Given the description of an element on the screen output the (x, y) to click on. 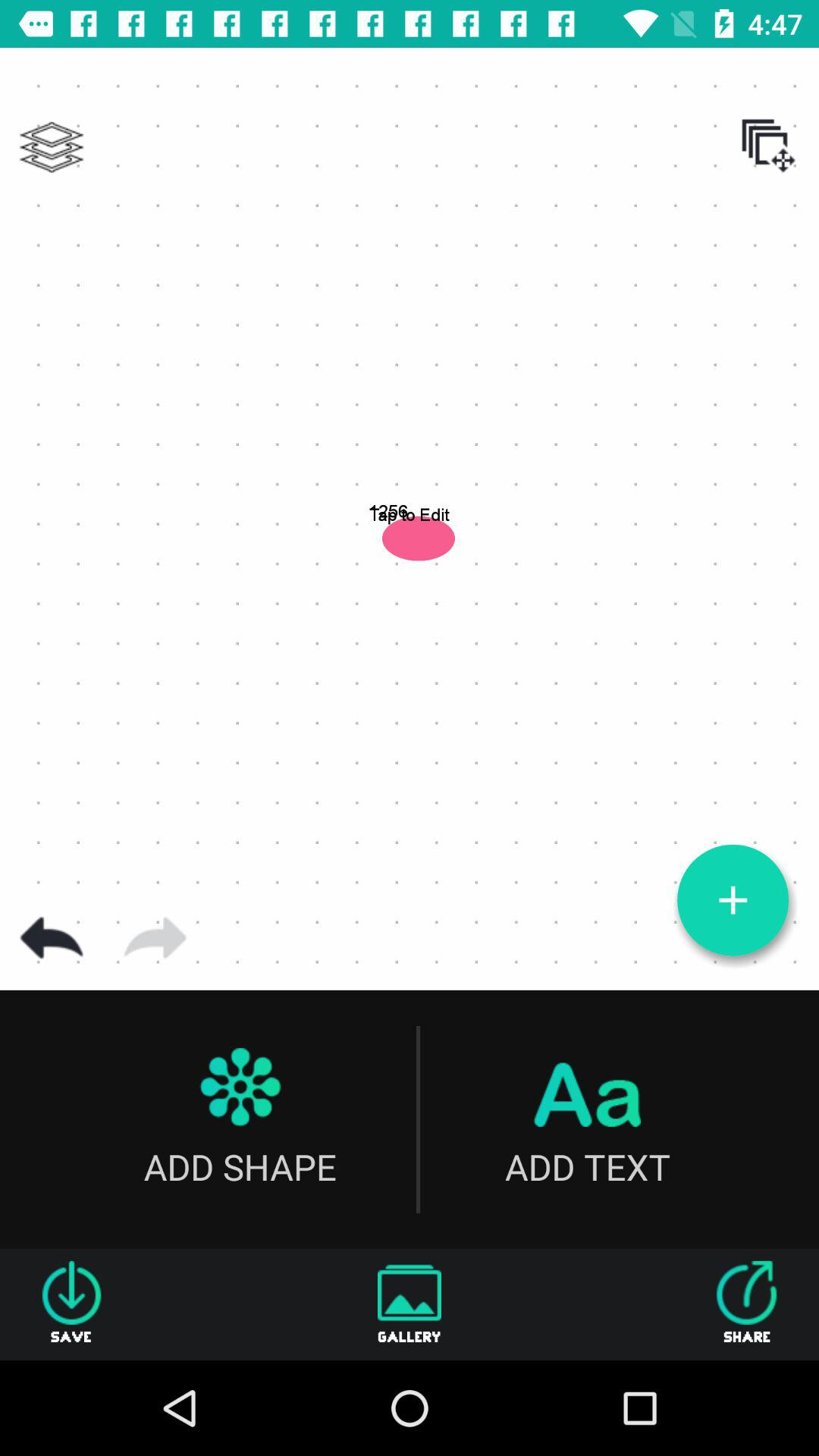
zoom out (733, 900)
